Given the description of an element on the screen output the (x, y) to click on. 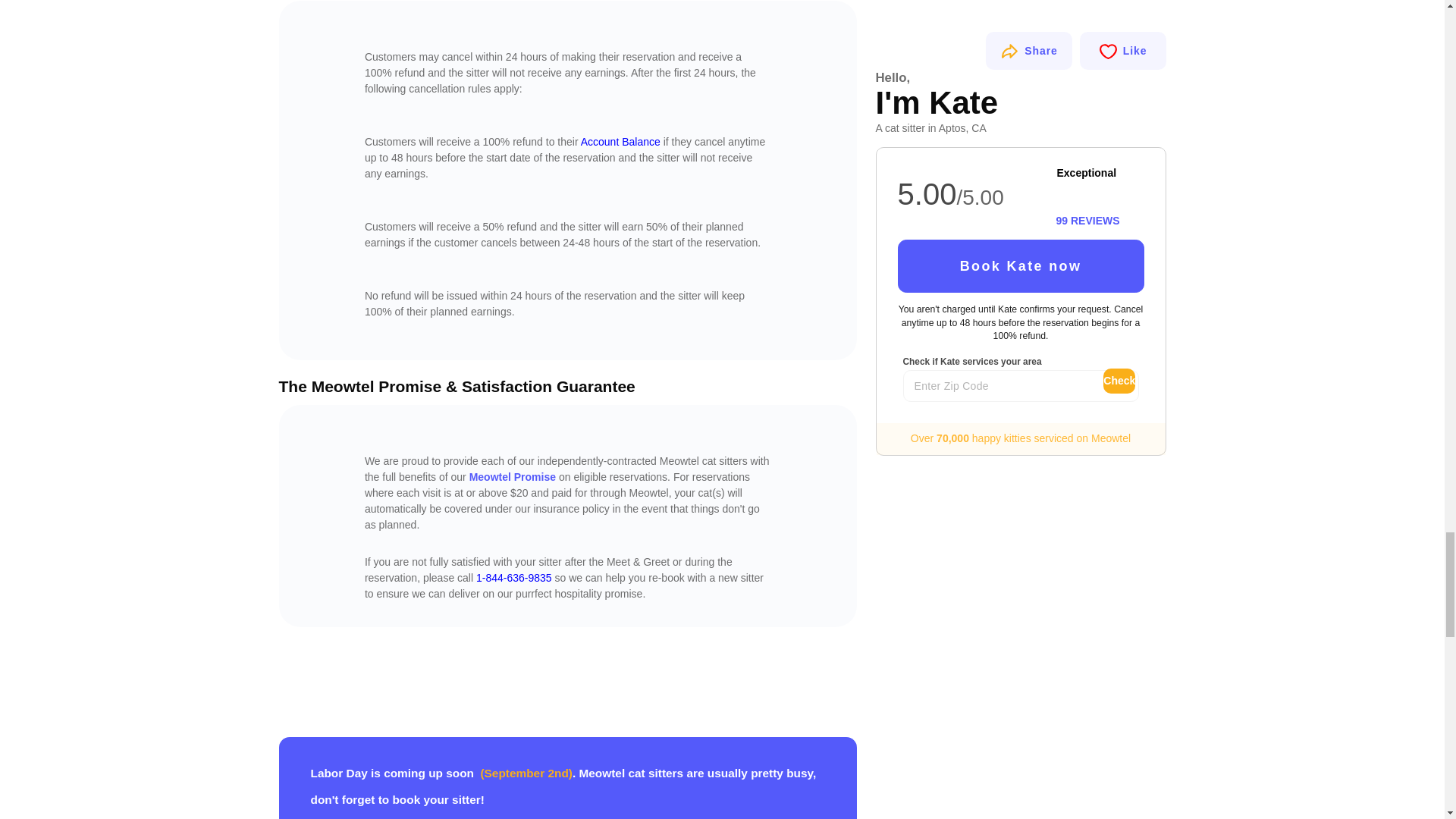
1-844-636-9835 (513, 577)
Account Balance (620, 141)
Account Balance (620, 141)
Meowtel Promise (512, 476)
